Given the description of an element on the screen output the (x, y) to click on. 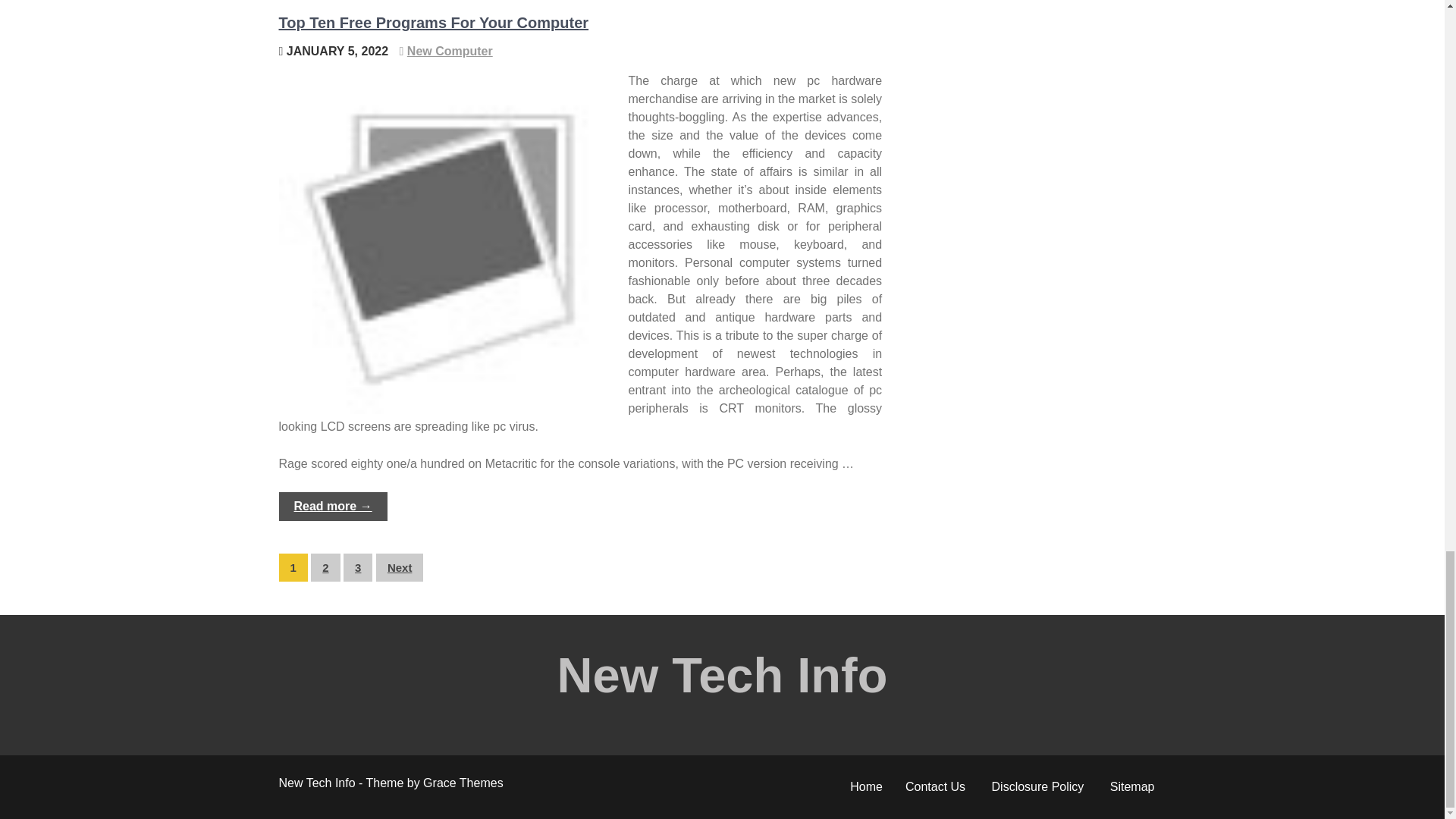
Next (399, 567)
2 (325, 567)
New Computer (450, 51)
Top Ten Free Programs For Your Computer (434, 22)
3 (357, 567)
